Given the description of an element on the screen output the (x, y) to click on. 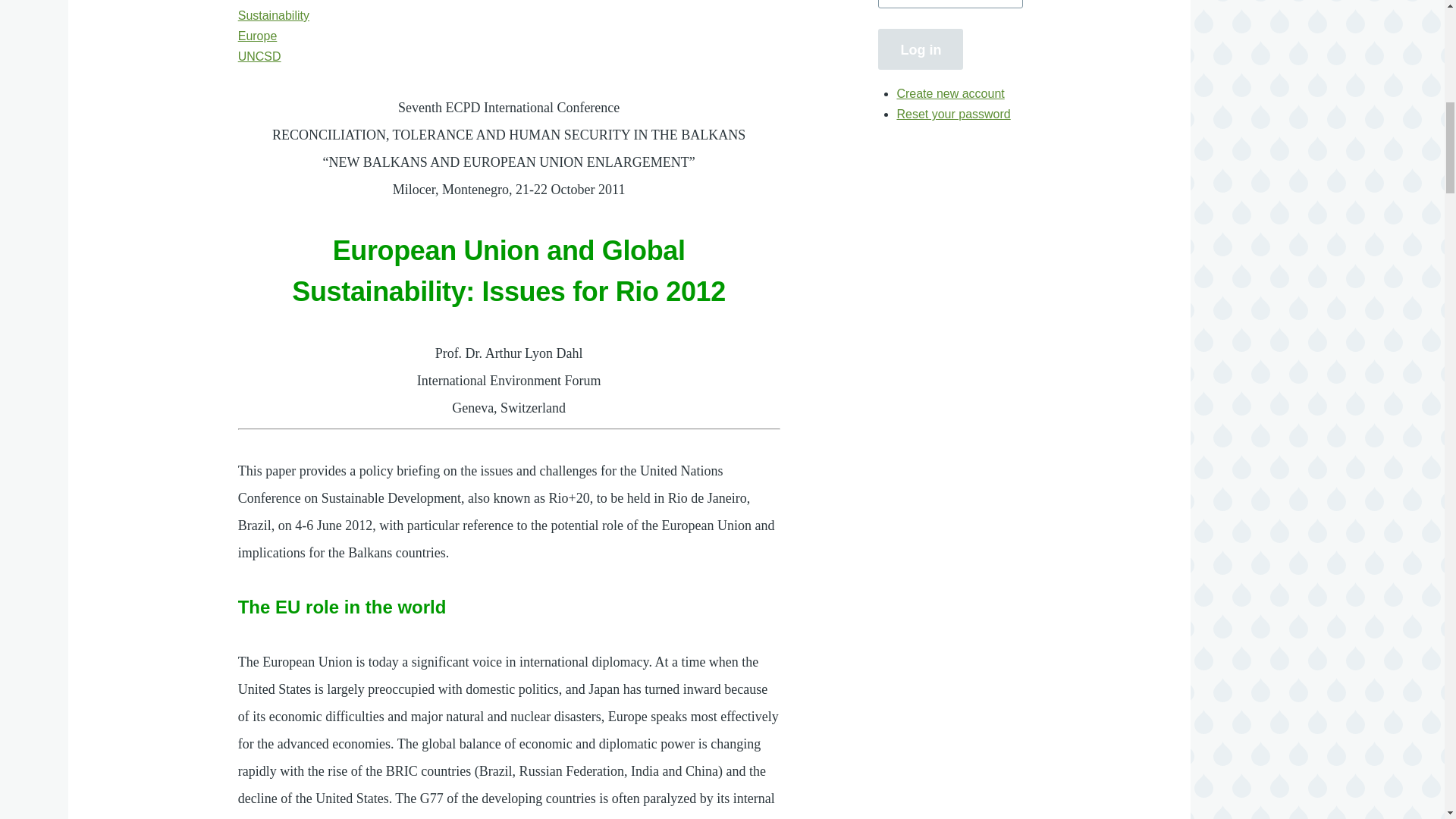
Send password reset instructions via email. (953, 113)
UNCSD (259, 56)
Europe (258, 35)
Sustainability (273, 15)
Create a new user account. (950, 92)
Log in (919, 48)
